Given the description of an element on the screen output the (x, y) to click on. 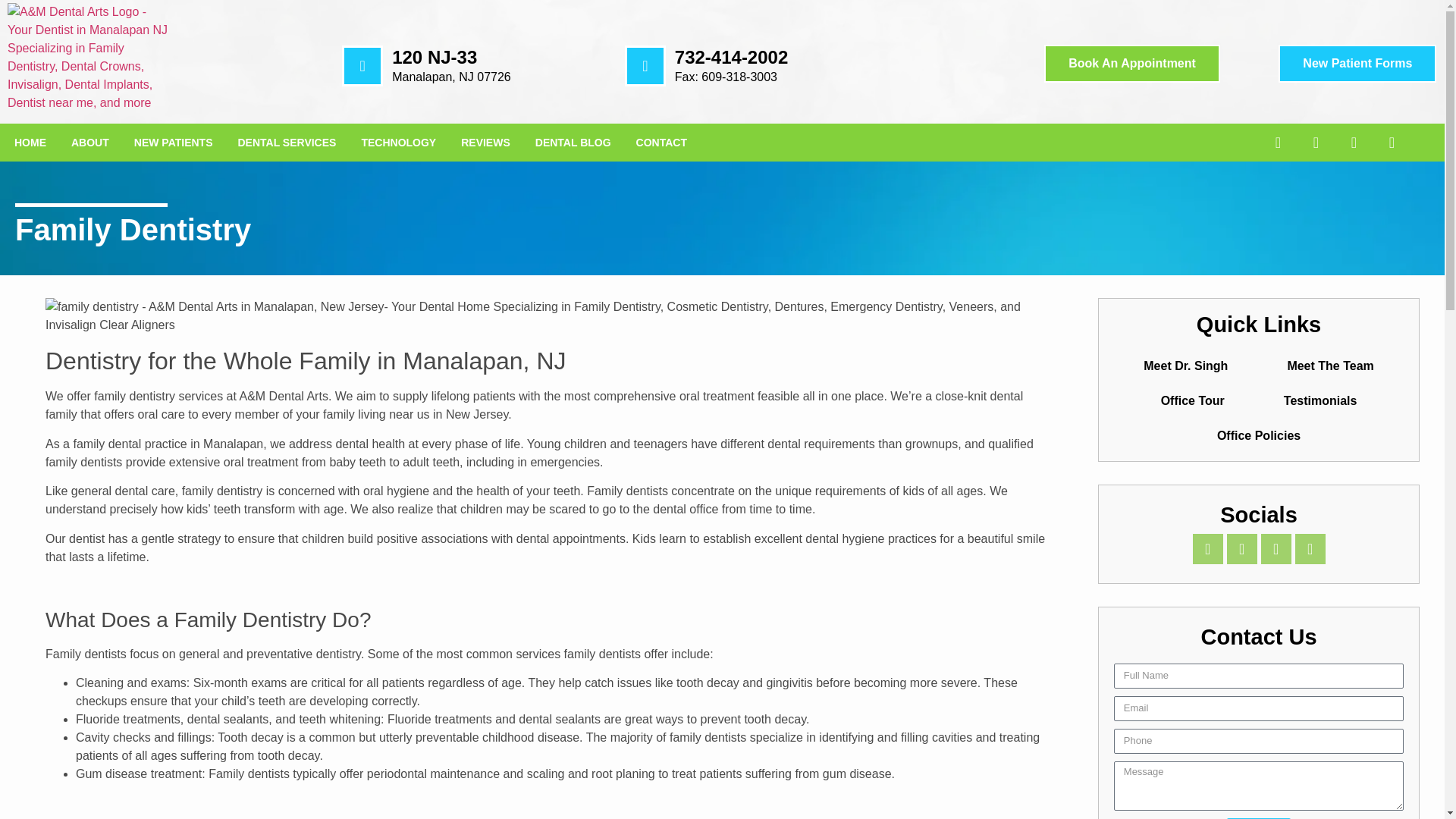
Book An Appointment (1131, 30)
NEW PATIENTS (173, 142)
120 NJ-33 (434, 6)
HOME (30, 142)
ABOUT (90, 142)
732-414-2002 (731, 22)
DENTAL SERVICES (286, 142)
New Patient Forms (1356, 31)
